Given the description of an element on the screen output the (x, y) to click on. 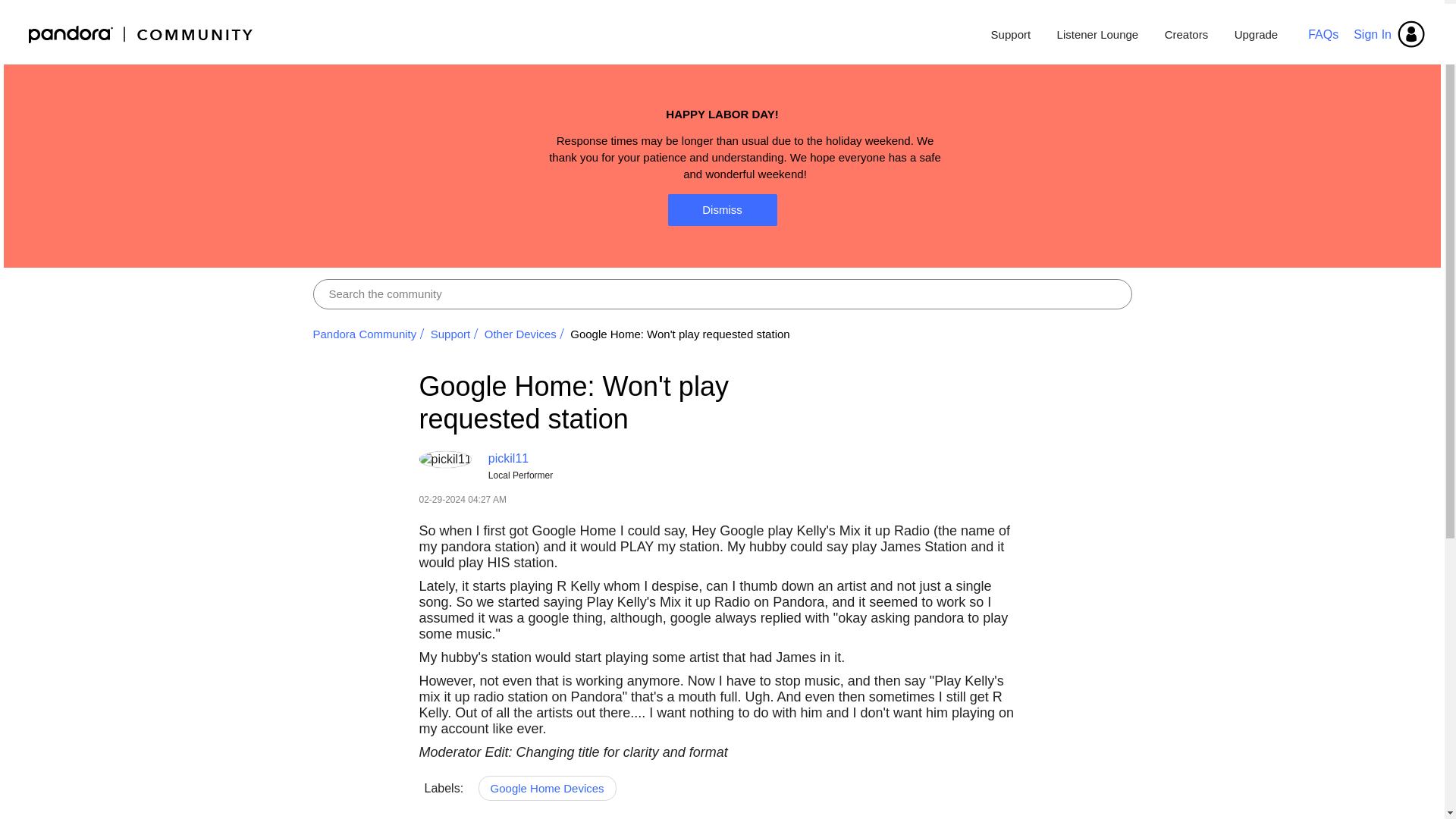
Listener Lounge (1097, 34)
Posted on (634, 499)
pickil11 (507, 458)
FAQs (1322, 33)
Support (450, 333)
Upgrade (1250, 34)
Dismiss (721, 210)
pickil11 (444, 459)
Support (1010, 34)
Creators (1186, 34)
